Given the description of an element on the screen output the (x, y) to click on. 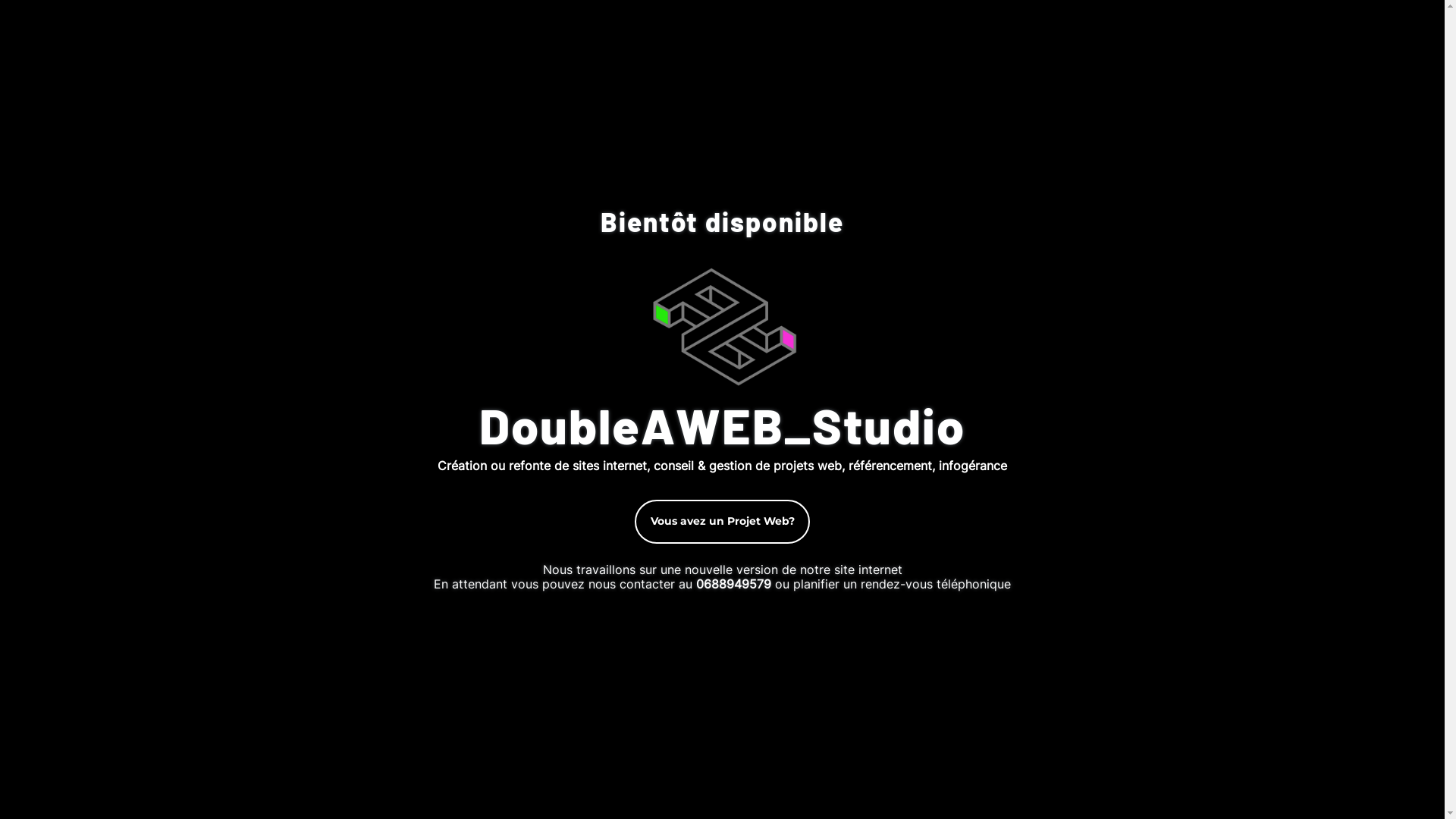
Vous avez un Projet Web? Element type: text (721, 521)
